Given the description of an element on the screen output the (x, y) to click on. 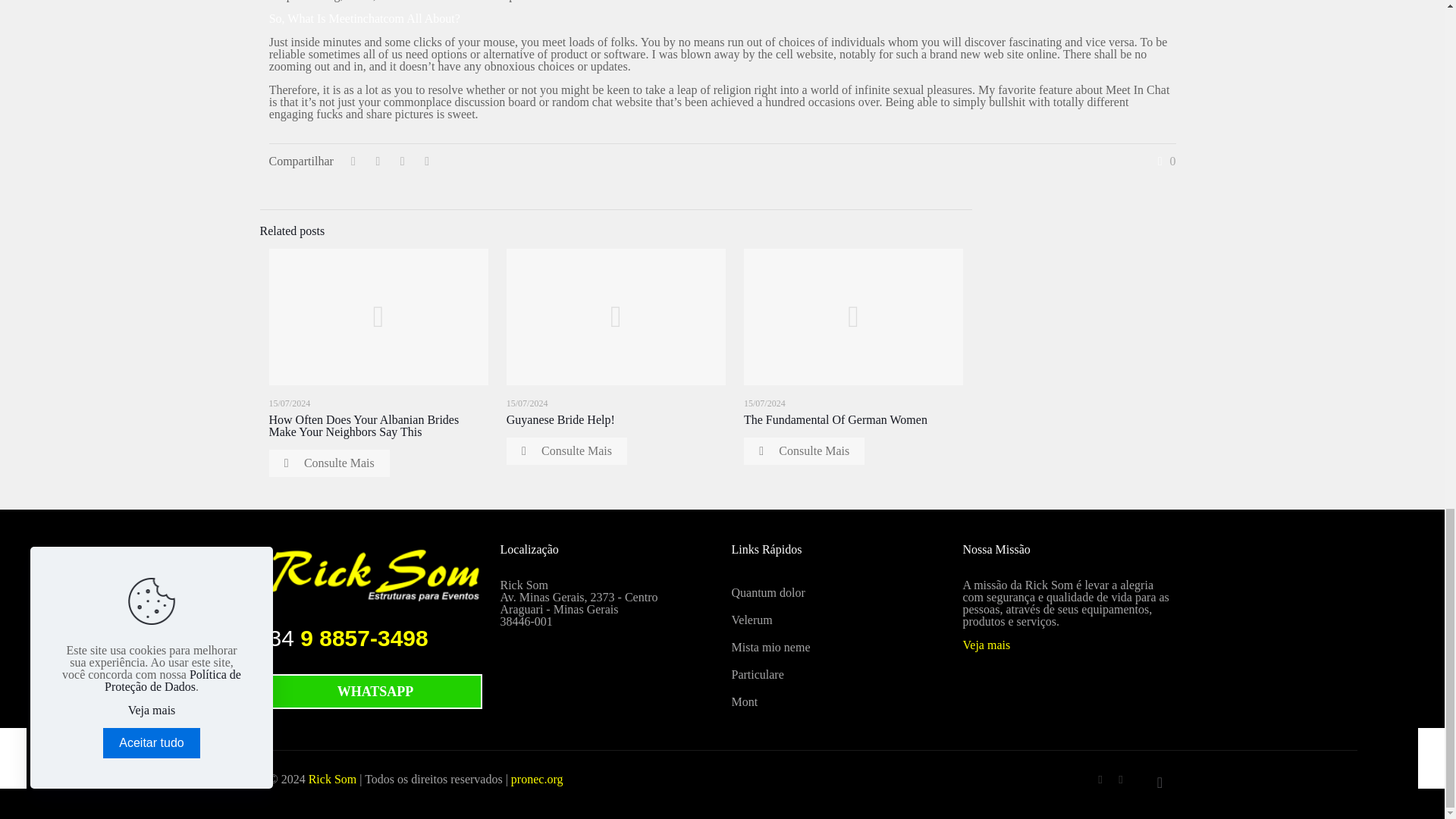
Instagram (1121, 779)
Facebook (1100, 779)
